Given the description of an element on the screen output the (x, y) to click on. 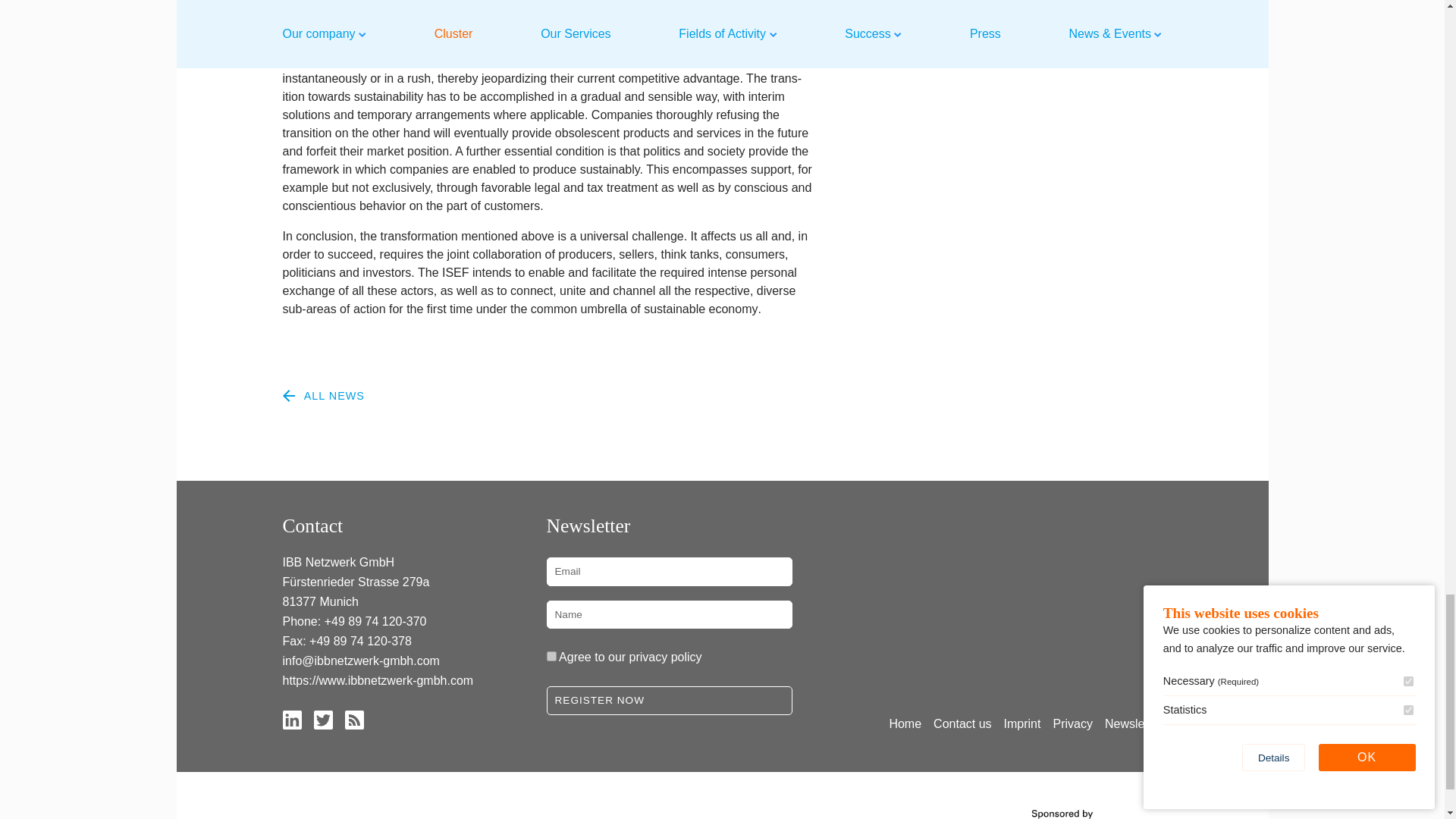
RSS (352, 718)
LinkedIn (291, 718)
Twitter (323, 718)
Register now (669, 700)
1 (551, 655)
